Given the description of an element on the screen output the (x, y) to click on. 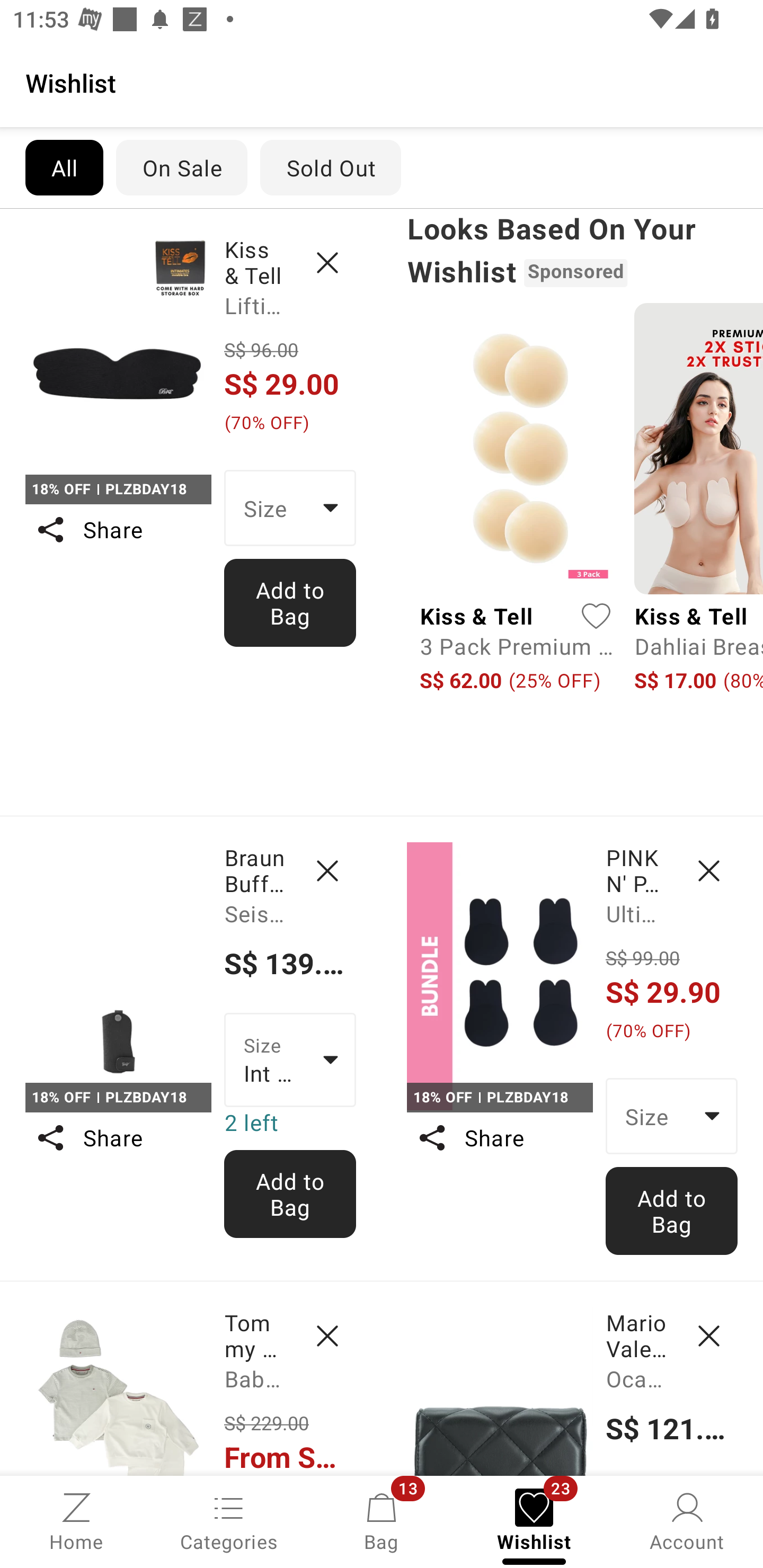
Wishlist (381, 82)
All (64, 167)
On Sale (181, 167)
Sold Out (330, 167)
Size (290, 507)
Share (118, 529)
Add to Bag (290, 602)
Size Int One Size (290, 1059)
Size (671, 1116)
Share (118, 1137)
Share (499, 1137)
Add to Bag (290, 1193)
Add to Bag (671, 1210)
Home (76, 1519)
Categories (228, 1519)
Bag, 13 new notifications Bag (381, 1519)
Account (686, 1519)
